Given the description of an element on the screen output the (x, y) to click on. 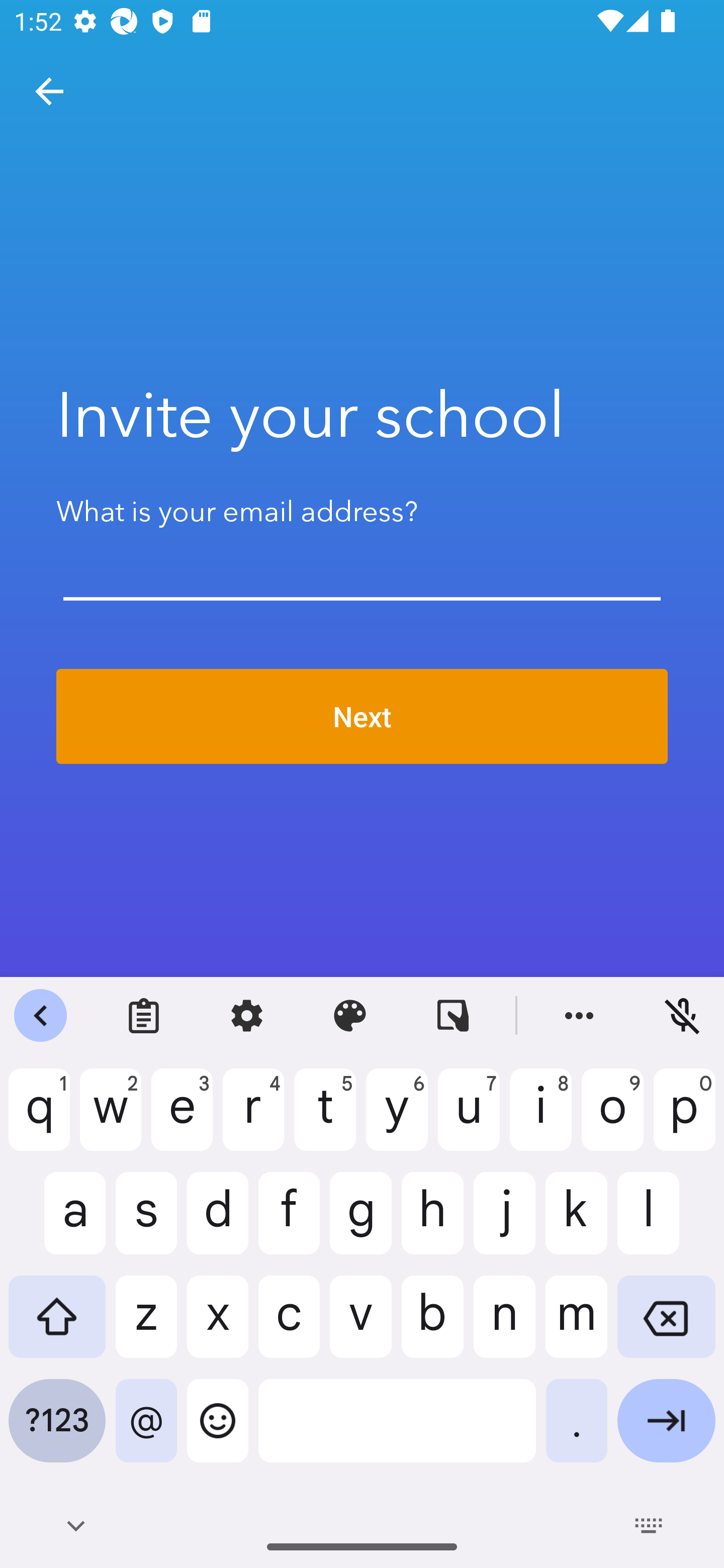
Navigate up (49, 91)
Next (361, 716)
